Given the description of an element on the screen output the (x, y) to click on. 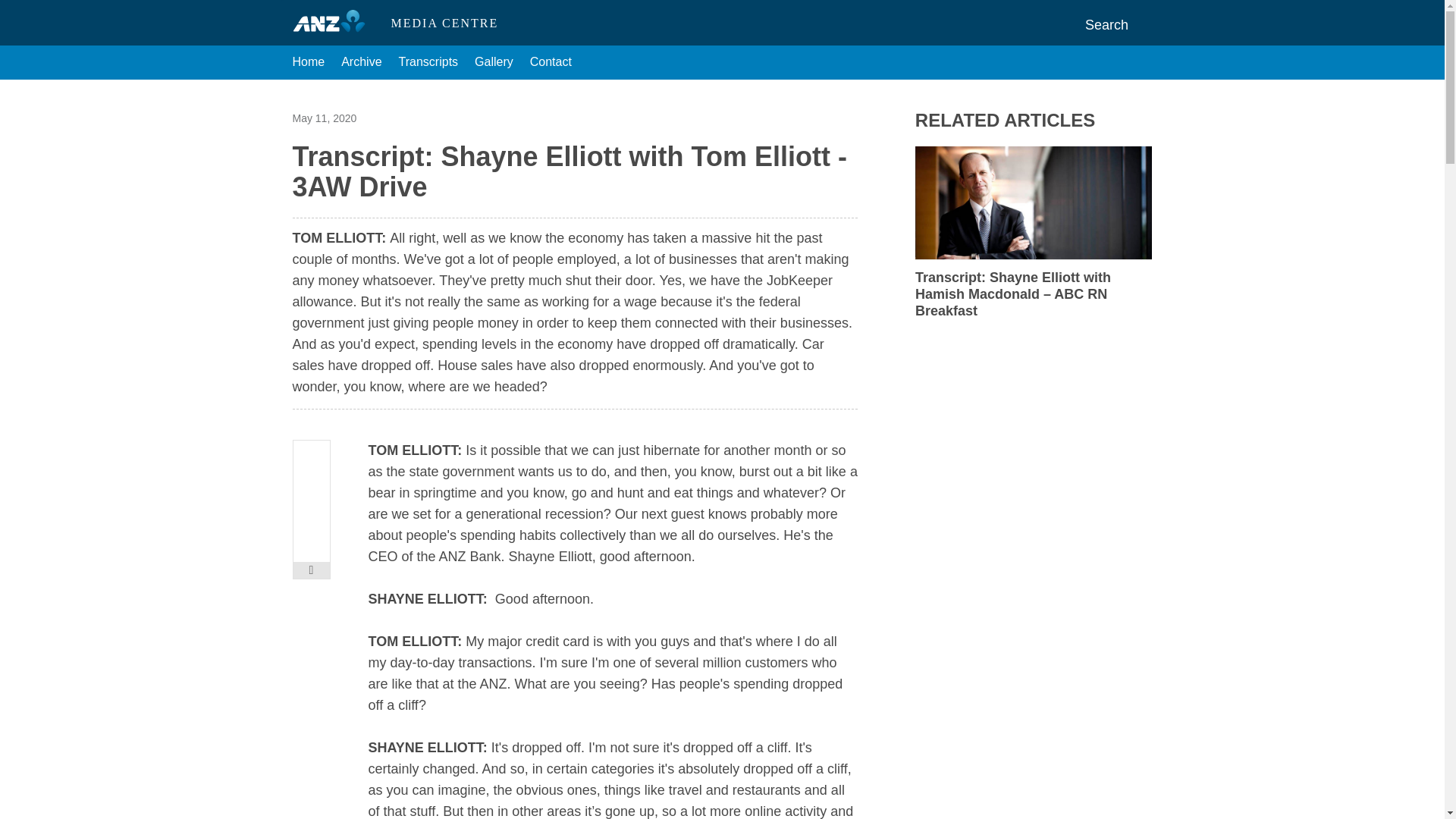
ANZ Logo (335, 22)
Search (1118, 24)
Transcripts (428, 62)
Gallery (493, 62)
Archive (360, 62)
Media Centre Homepage (335, 22)
Contact (550, 62)
Home (308, 62)
